Given the description of an element on the screen output the (x, y) to click on. 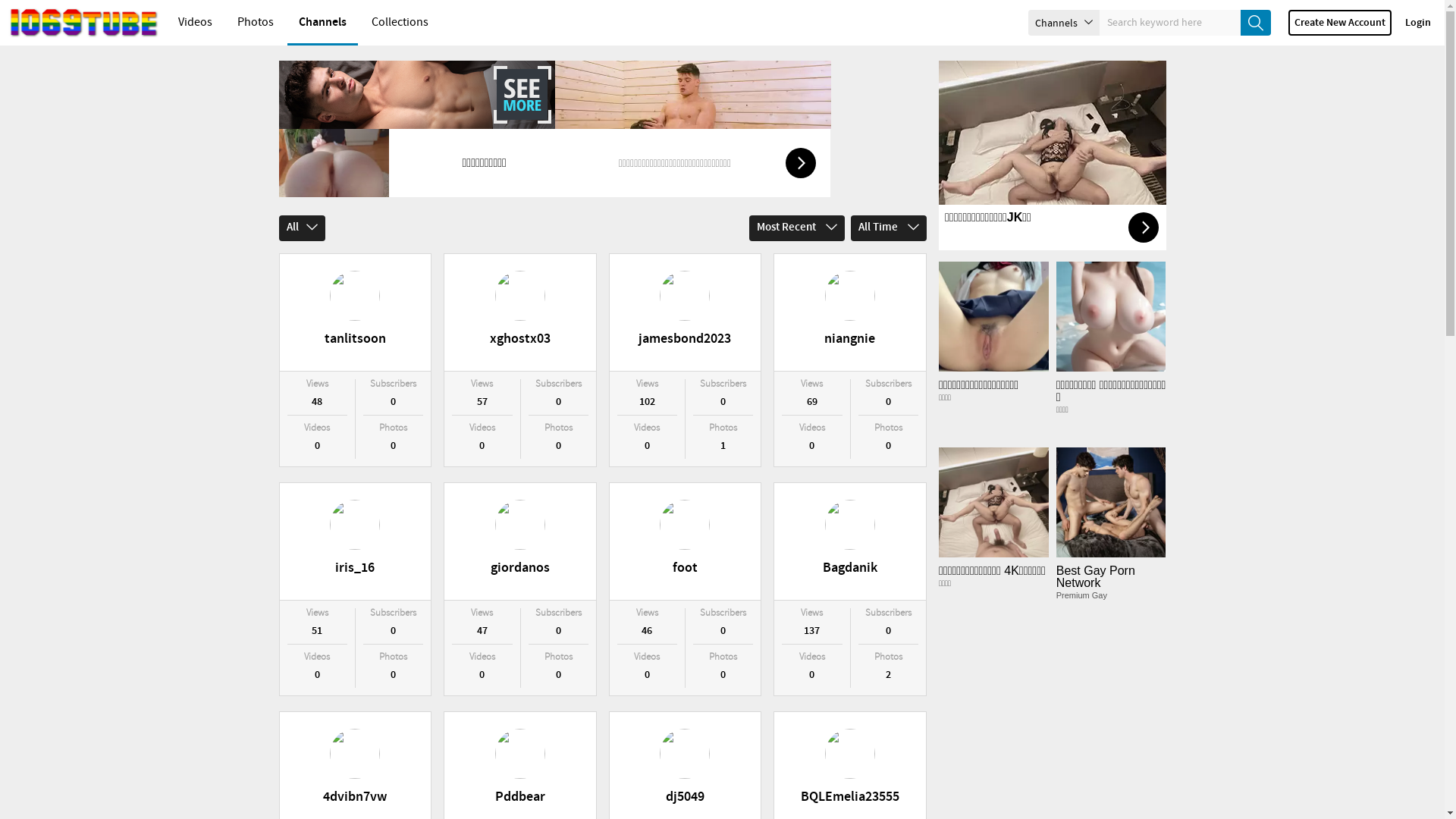
Channels Element type: text (1063, 22)
Photos Element type: text (255, 22)
tanlitsoon Element type: text (354, 312)
Bagdanik Element type: text (849, 541)
niangnie Element type: text (849, 312)
Collections Element type: text (399, 22)
jamesbond2023 Element type: text (685, 312)
Best Gay Porn Network
Premium Gay Element type: text (1111, 536)
iris_16 Element type: text (354, 541)
All Element type: text (301, 227)
xghostx03 Element type: text (520, 312)
Login Element type: text (1418, 22)
Create New Account Element type: text (1339, 22)
Channels Element type: text (322, 22)
Most Recent Element type: text (796, 227)
giordanos Element type: text (520, 541)
foot Element type: text (685, 541)
All Time Element type: text (888, 227)
Videos Element type: text (194, 22)
